Given the description of an element on the screen output the (x, y) to click on. 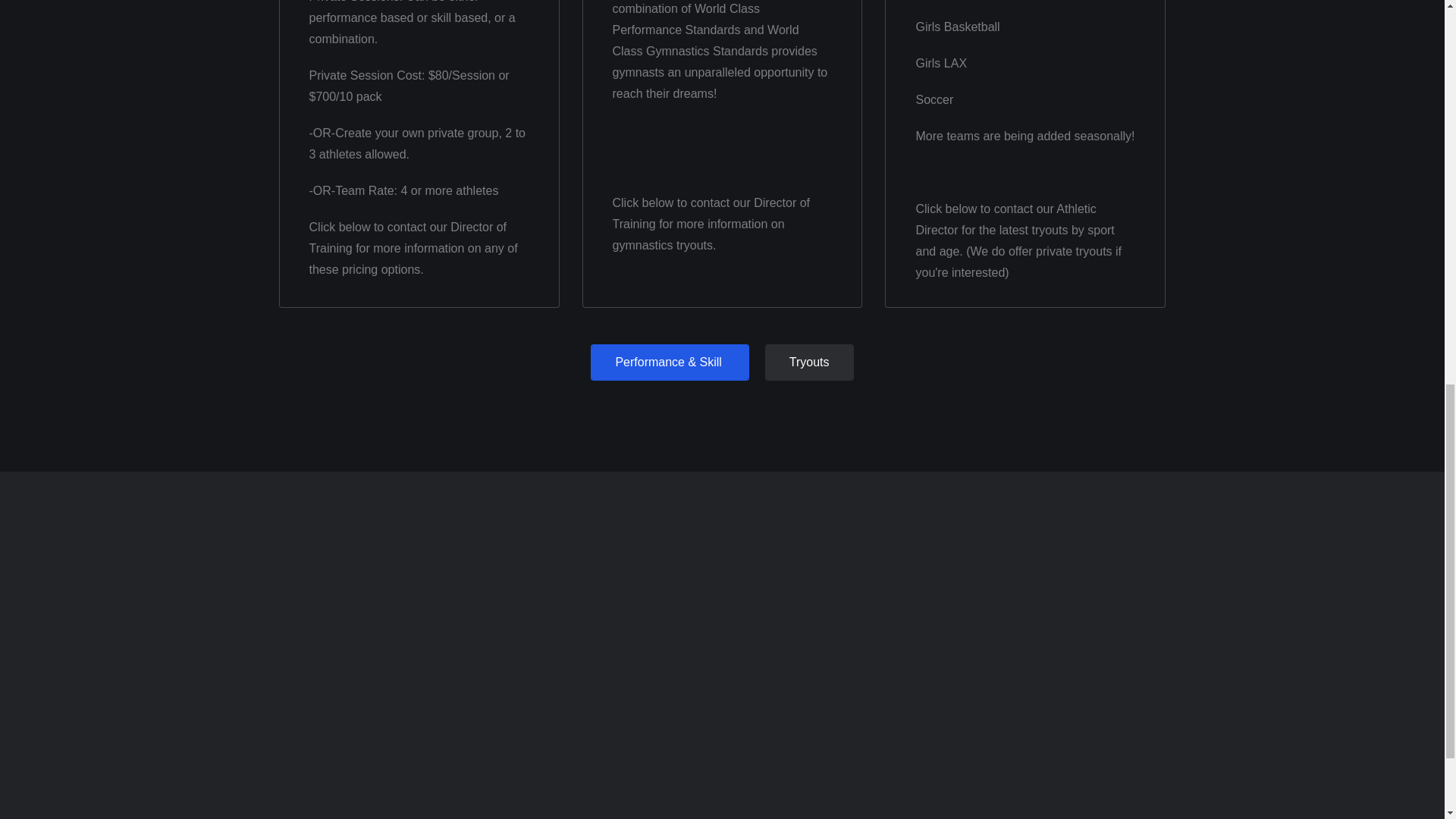
Tryouts (809, 361)
